Given the description of an element on the screen output the (x, y) to click on. 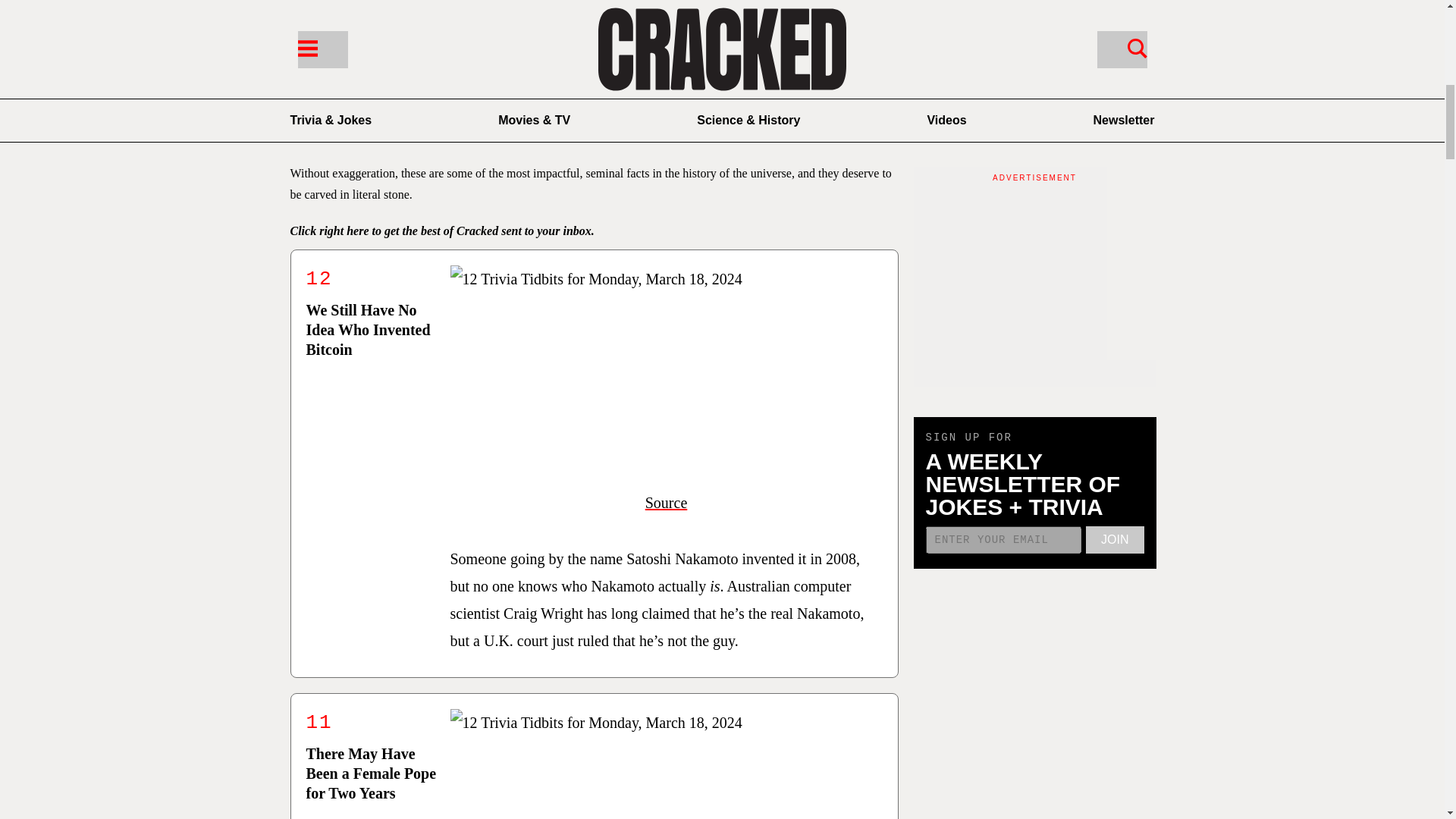
Source (666, 502)
Jesse (388, 109)
carved in literal stone (356, 194)
